Given the description of an element on the screen output the (x, y) to click on. 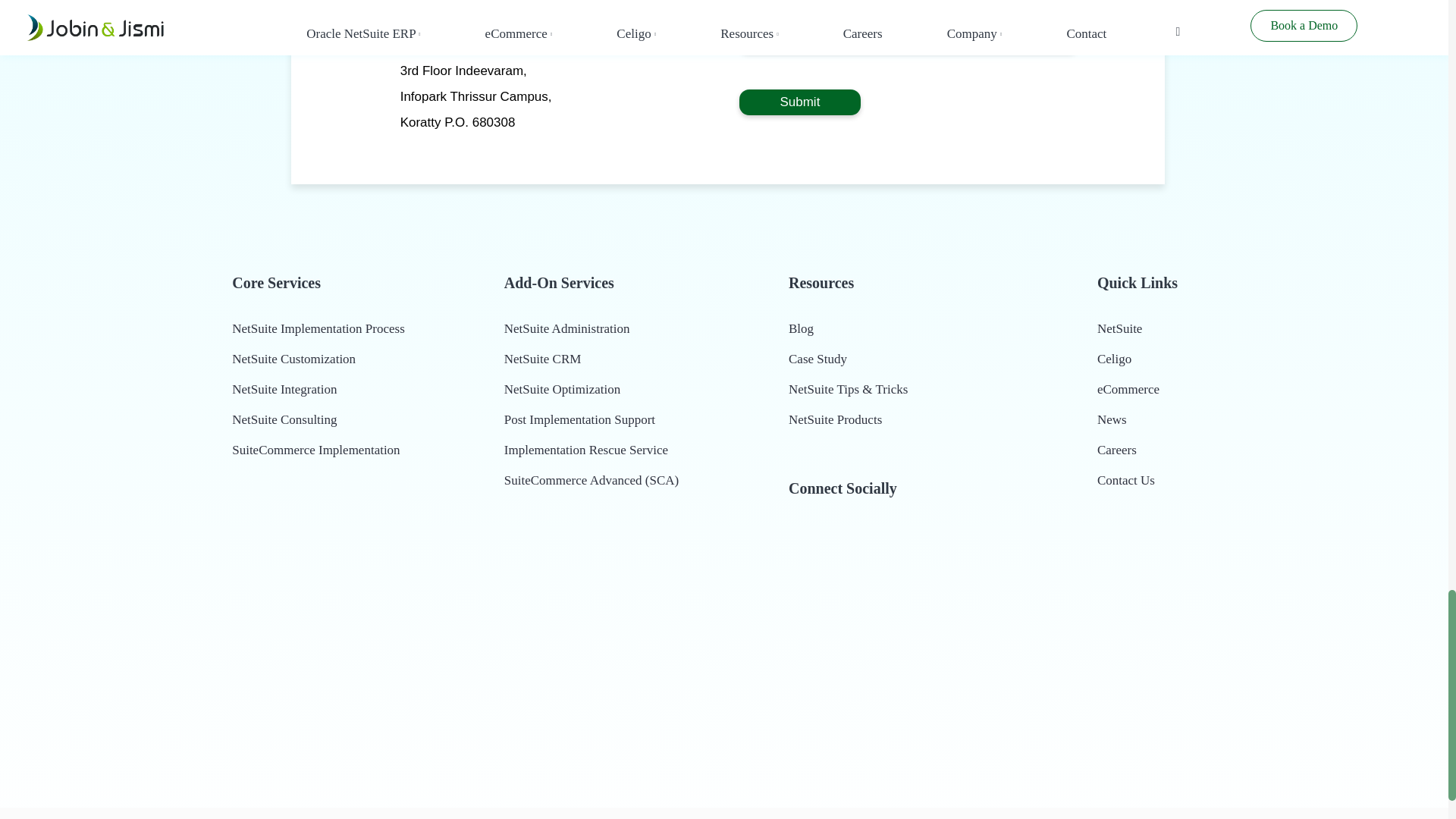
Submit (799, 102)
